Given the description of an element on the screen output the (x, y) to click on. 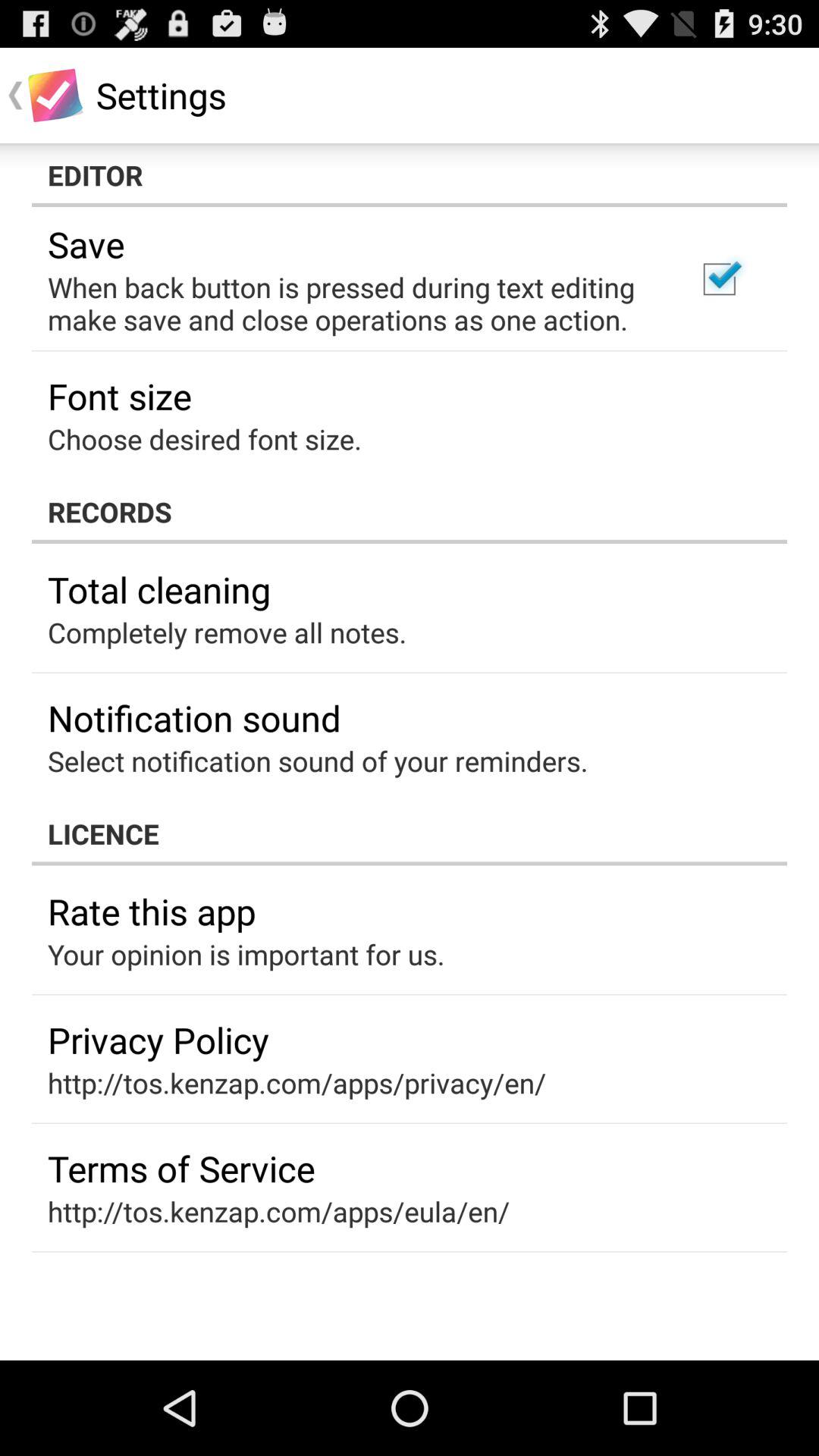
tap rate this app icon (151, 911)
